Given the description of an element on the screen output the (x, y) to click on. 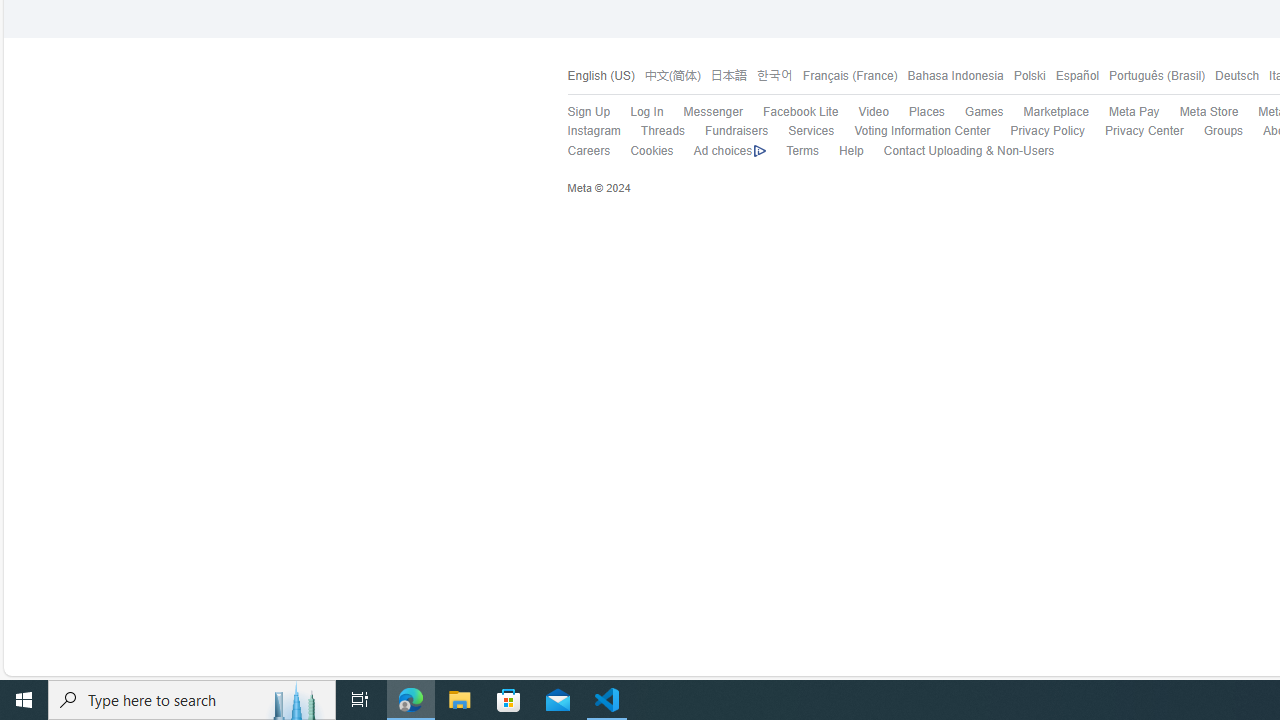
Careers (578, 151)
Facebook Lite (799, 112)
Games (983, 112)
Services (801, 131)
Marketplace (1046, 112)
Fundraisers (736, 130)
Meta Pay (1133, 112)
Messenger (712, 112)
Help (851, 150)
Video (873, 112)
Voting Information Center (921, 130)
